Given the description of an element on the screen output the (x, y) to click on. 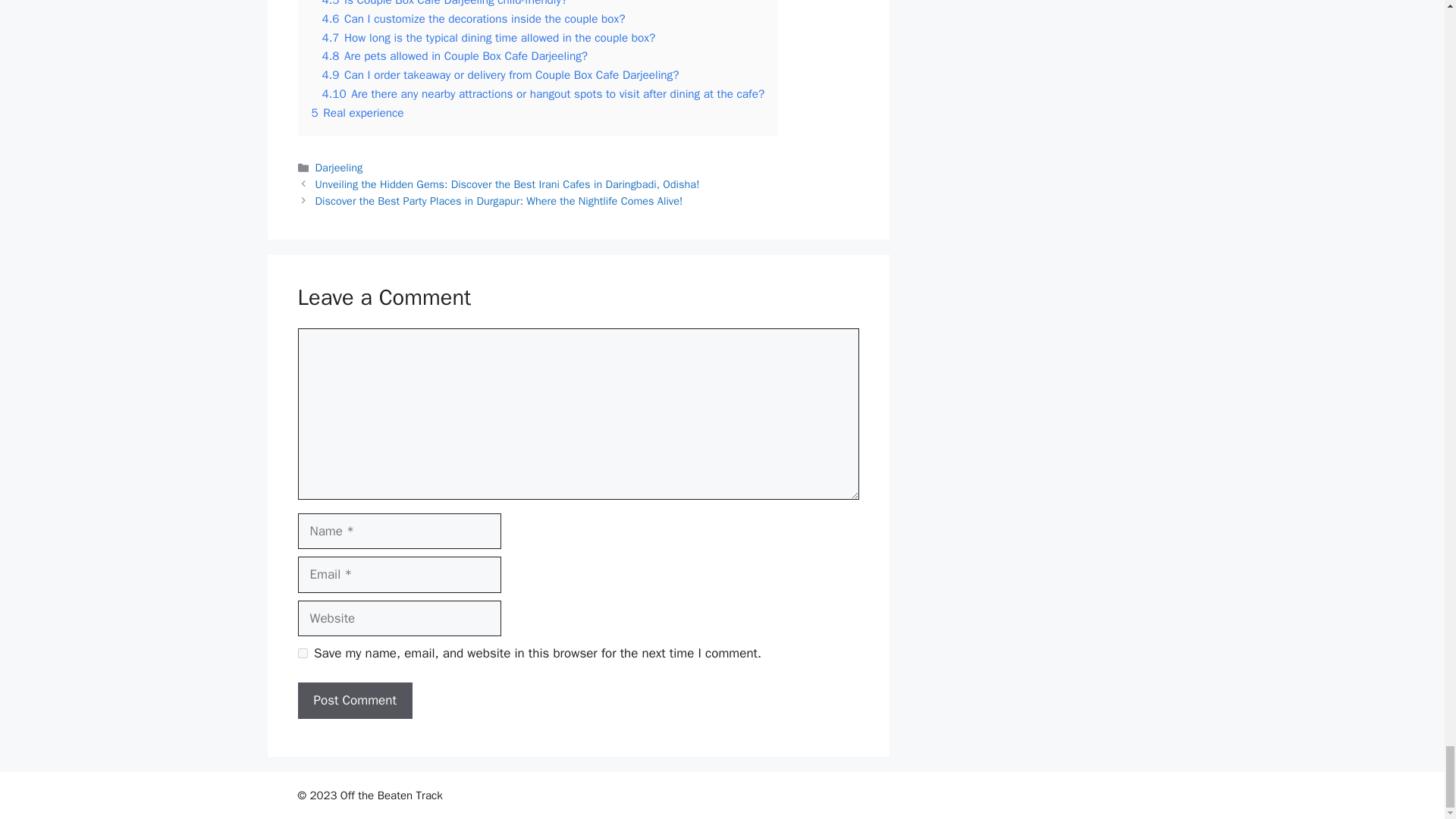
yes (302, 653)
Darjeeling (338, 167)
4.8 Are pets allowed in Couple Box Cafe Darjeeling? (454, 55)
4.5 Is Couple Box Cafe Darjeeling child-friendly? (444, 3)
4.6 Can I customize the decorations inside the couple box? (472, 18)
5 Real experience (357, 112)
Post Comment (354, 700)
